Given the description of an element on the screen output the (x, y) to click on. 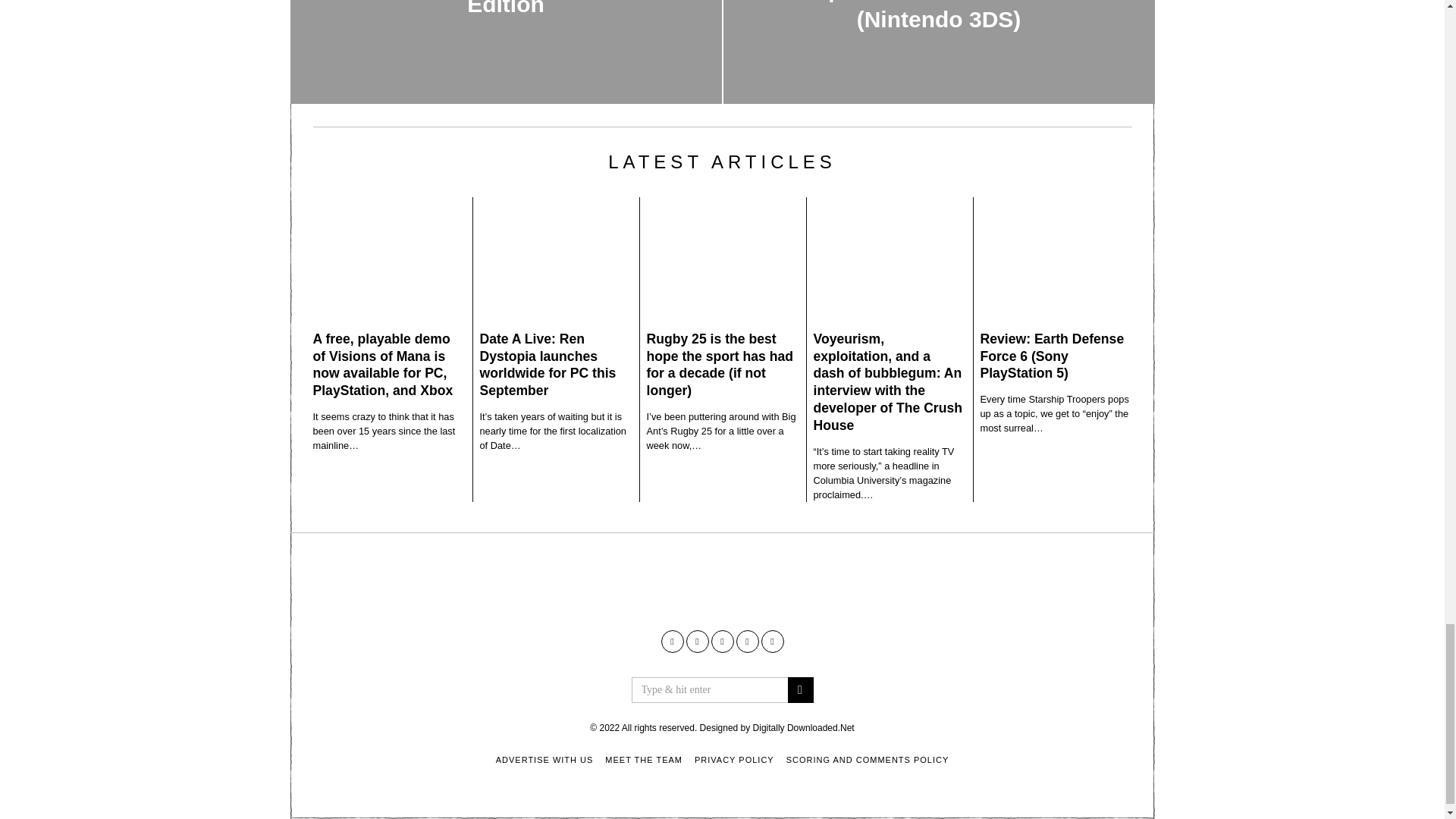
Facebook (672, 640)
itch.io (722, 640)
YouTube (696, 640)
Patreon (746, 640)
